Given the description of an element on the screen output the (x, y) to click on. 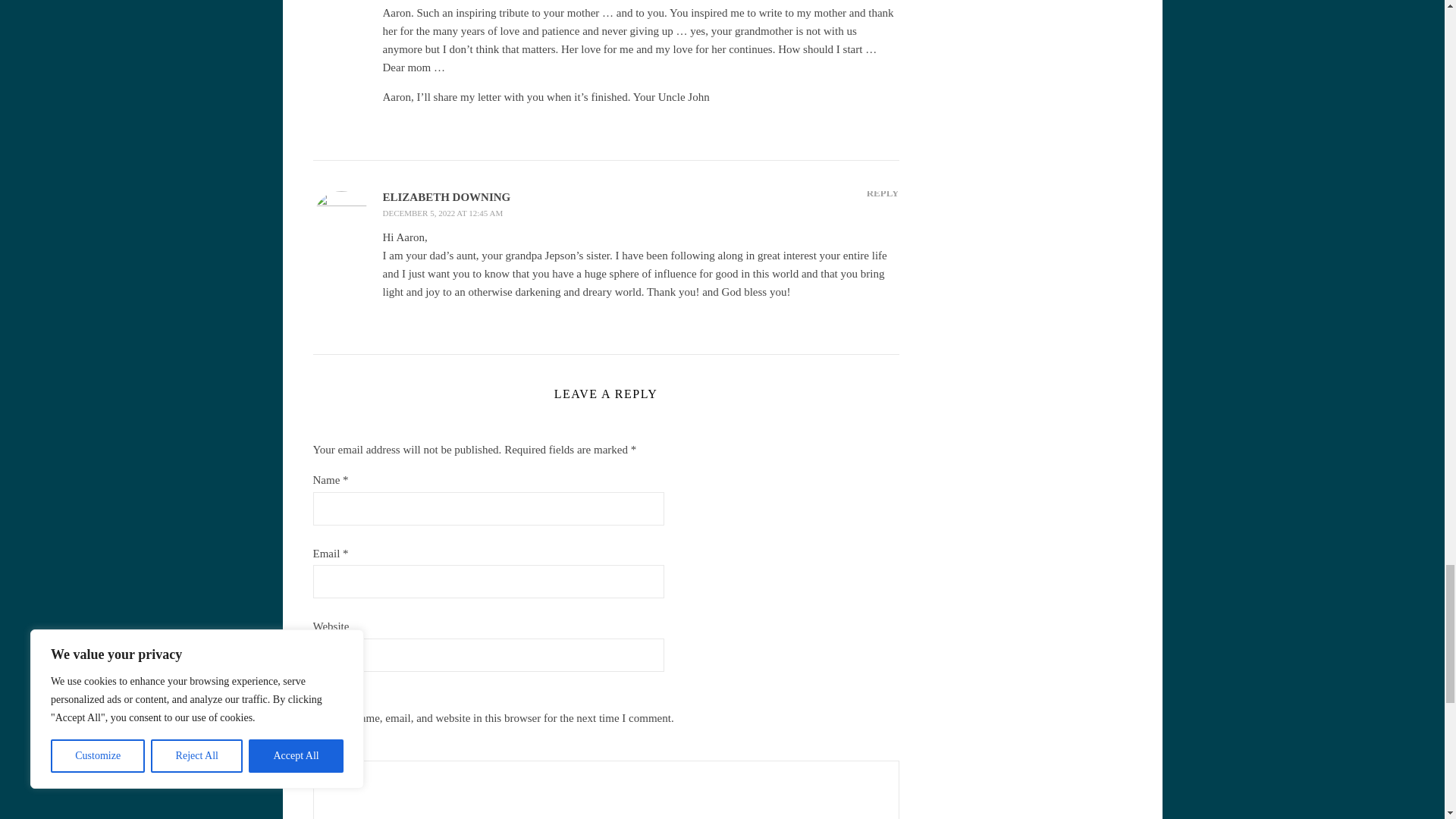
yes (317, 698)
